Given the description of an element on the screen output the (x, y) to click on. 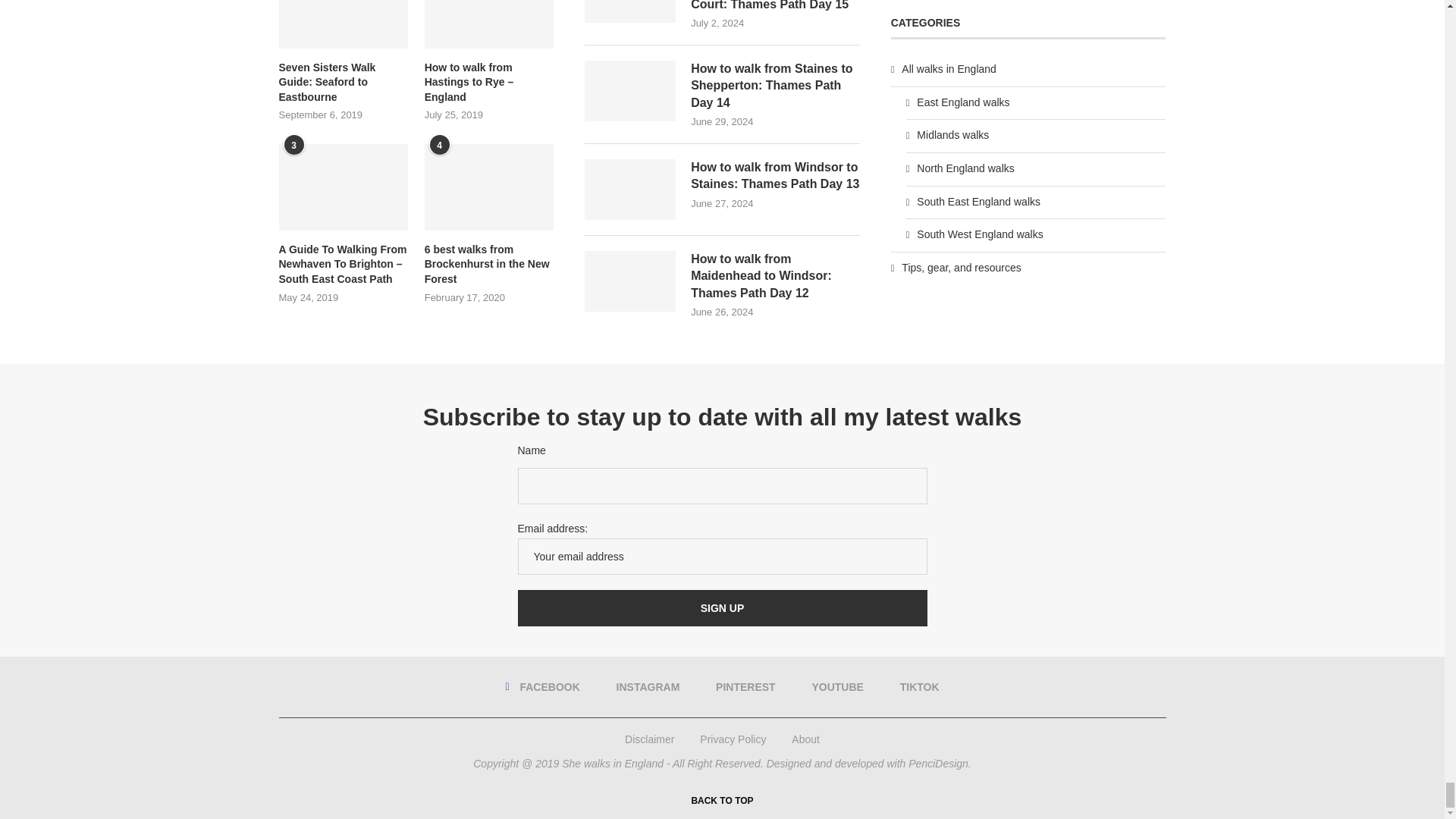
Sign up (721, 607)
6 best walks from Brockenhurst in the New Forest (489, 264)
Seven Sisters Walk Guide: Seaford to Eastbourne (343, 24)
Seven Sisters Walk Guide: Seaford to Eastbourne (343, 82)
6 best walks from Brockenhurst in the New Forest (489, 187)
